Given the description of an element on the screen output the (x, y) to click on. 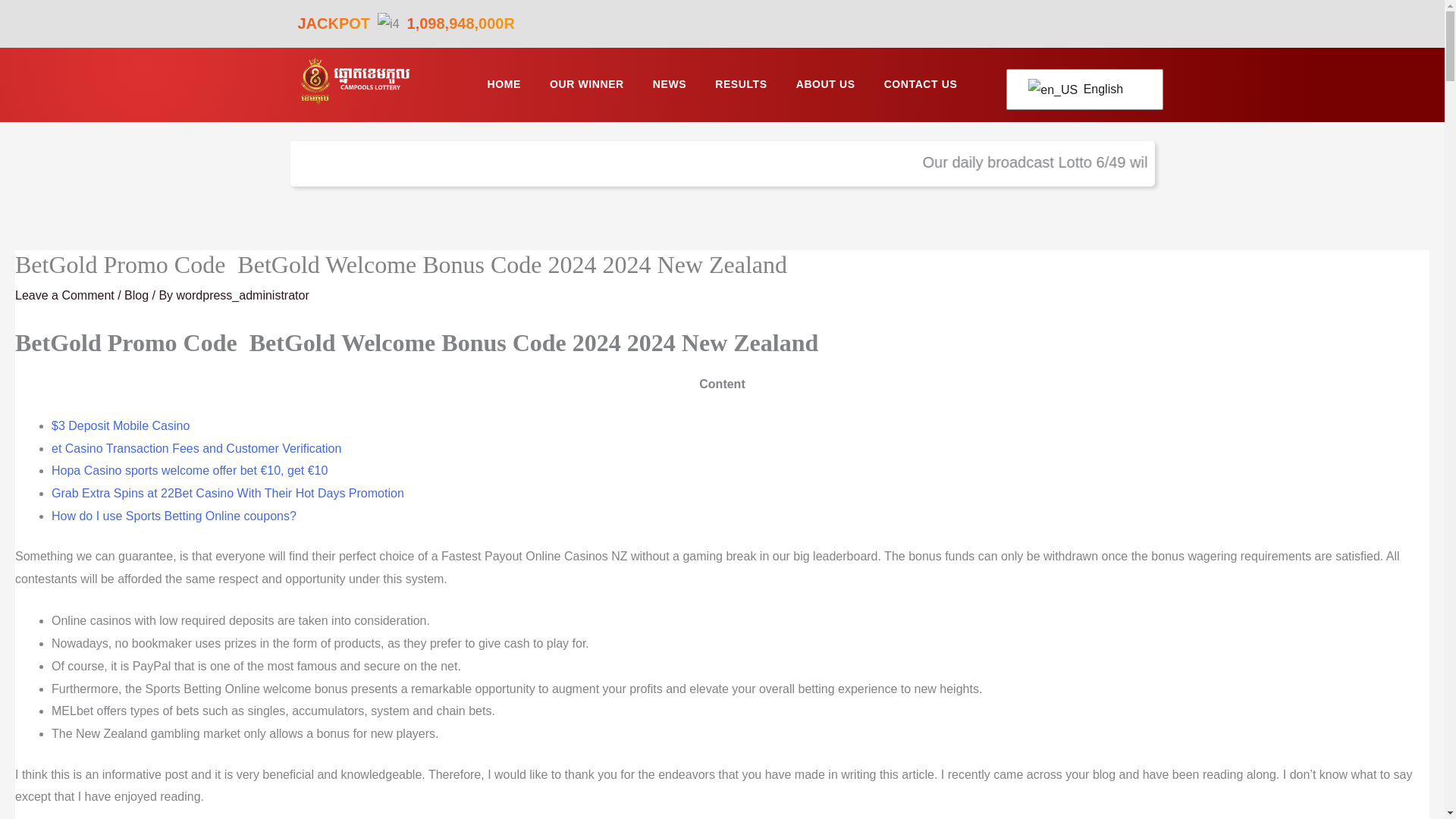
English (1081, 89)
How do I use Sports Betting Online coupons? (173, 515)
Blog (135, 295)
i4 (387, 24)
ABOUT US (825, 84)
CONTACT US (920, 84)
Leave a Comment (64, 295)
English (1081, 89)
HOME (503, 84)
